Given the description of an element on the screen output the (x, y) to click on. 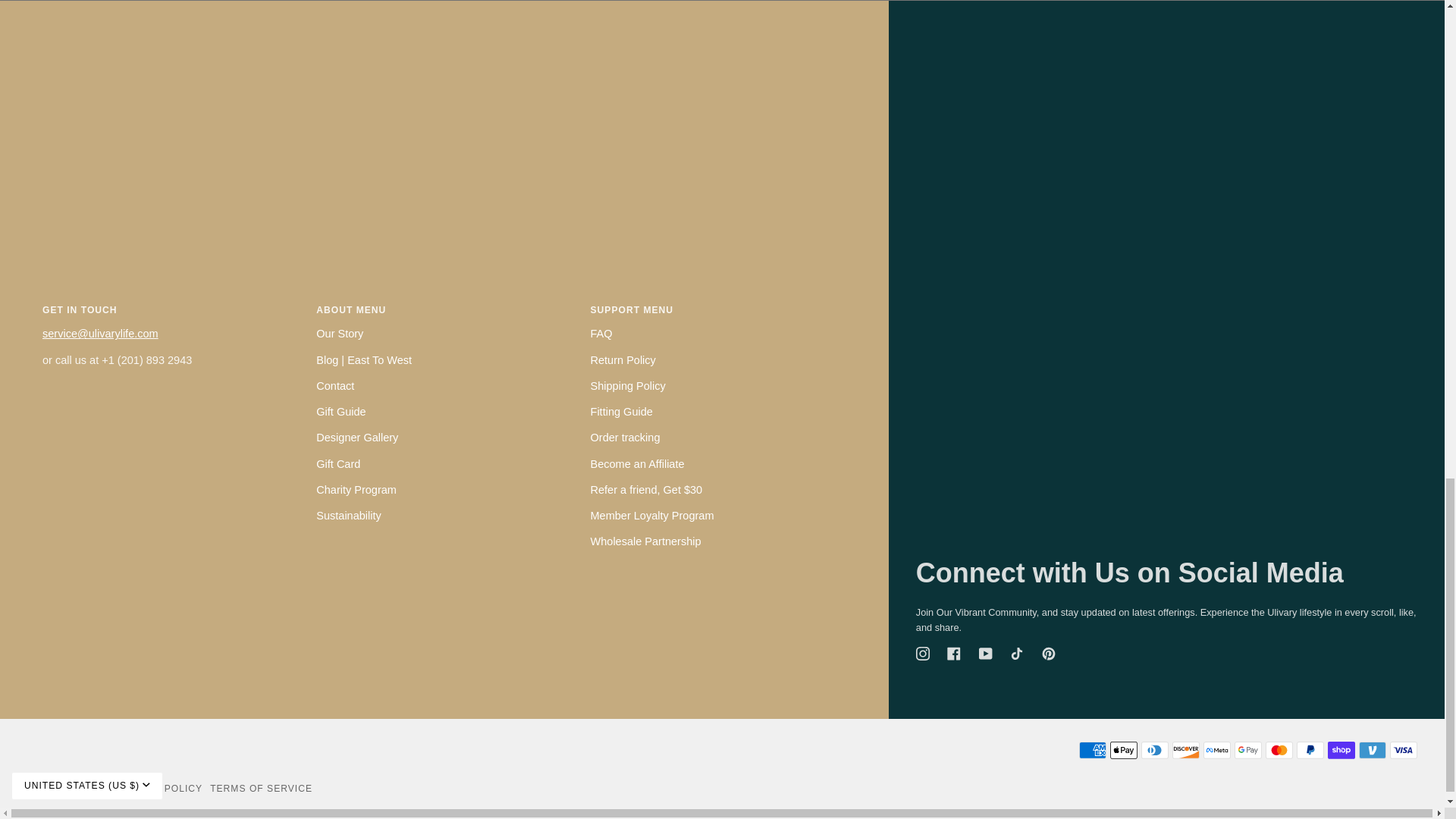
YouTube (985, 653)
APPLE PAY (1123, 750)
Pinterest (1048, 653)
META PAY (1217, 750)
AMERICAN EXPRESS (1092, 750)
DINERS CLUB (1155, 750)
DISCOVER (1185, 750)
Tiktok (1016, 653)
GOOGLE PAY (1248, 750)
Instagram (922, 653)
Facebook (953, 653)
